Given the description of an element on the screen output the (x, y) to click on. 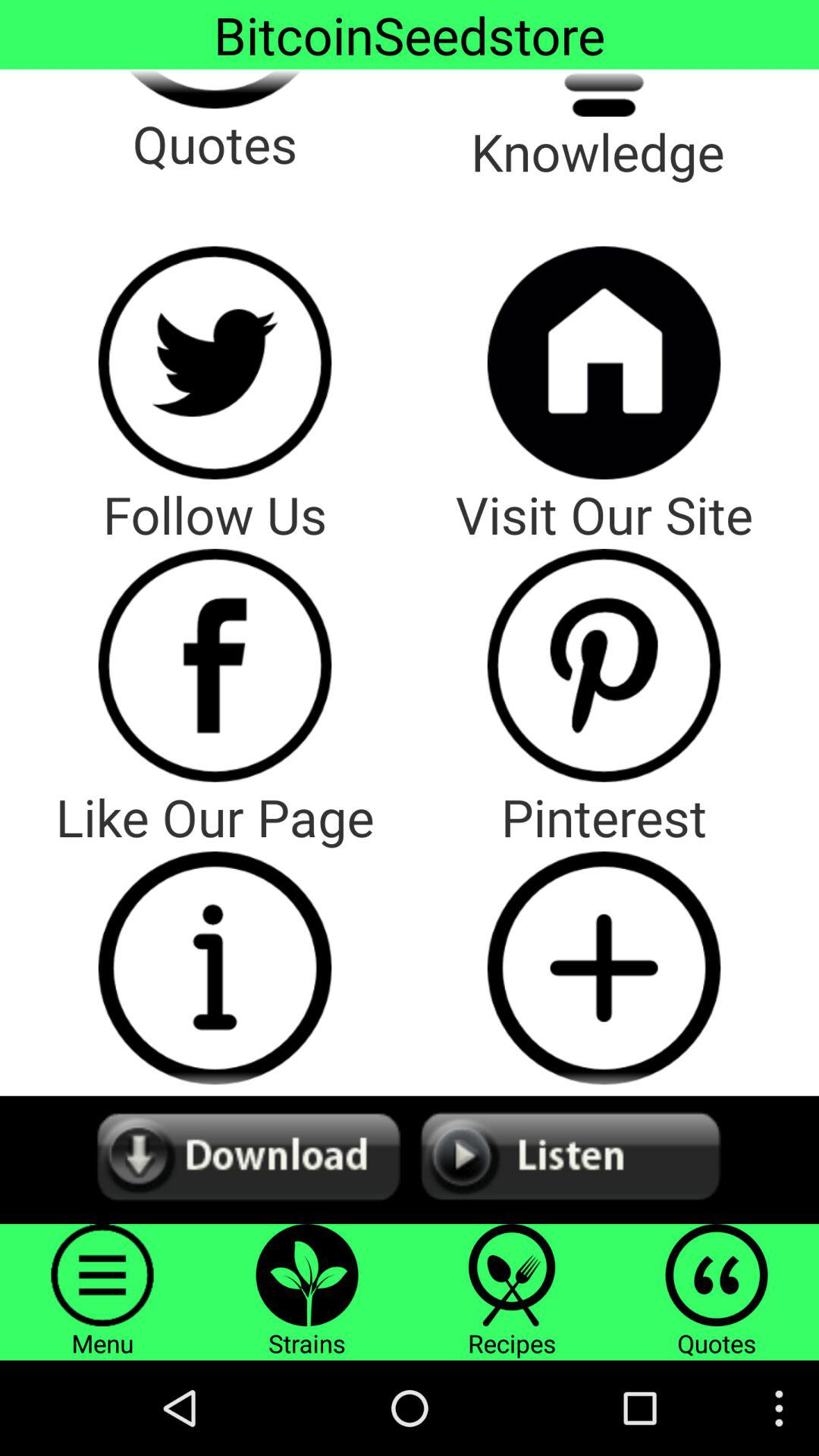
follow on twitter (214, 362)
